Given the description of an element on the screen output the (x, y) to click on. 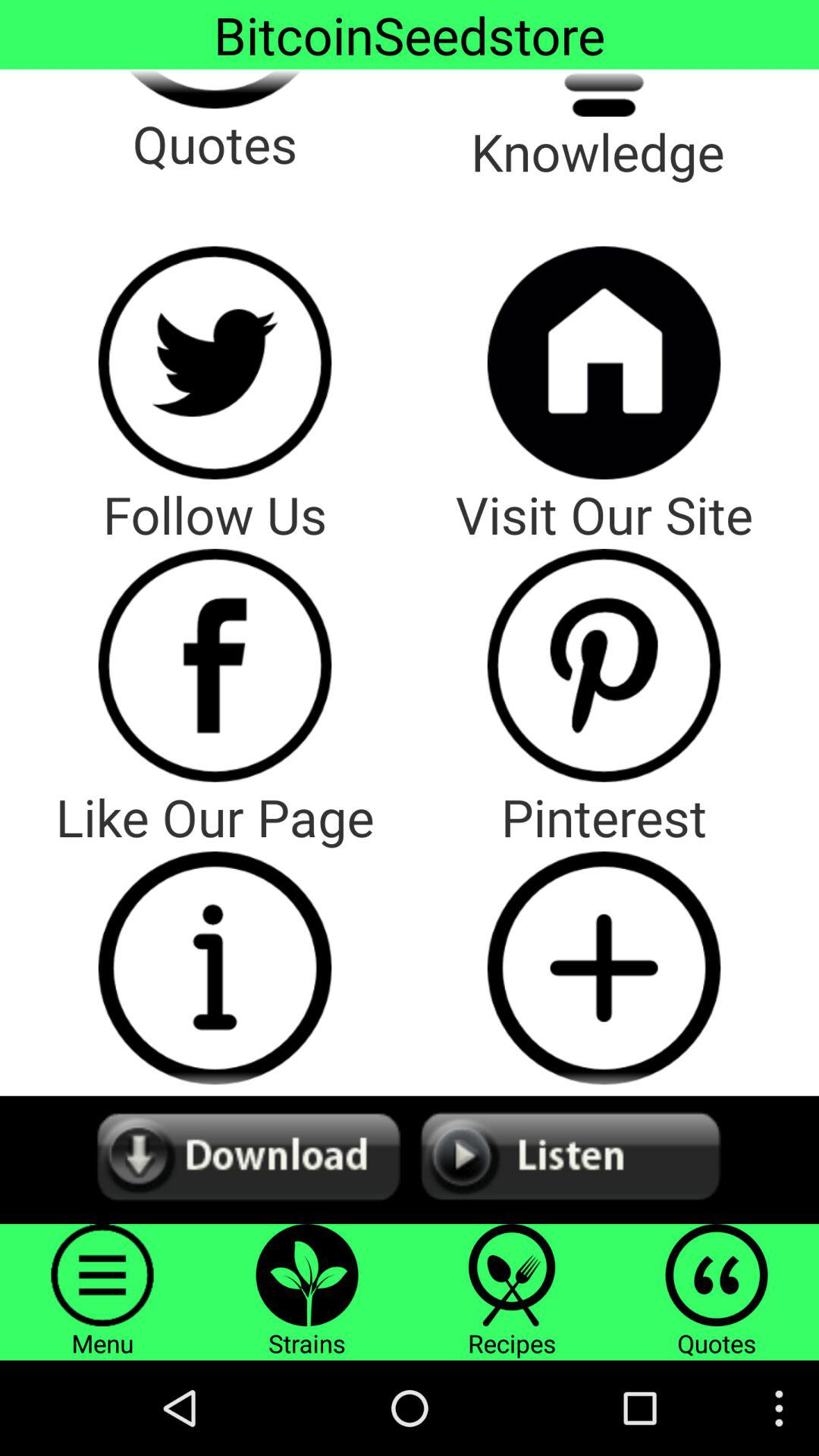
follow on twitter (214, 362)
